Given the description of an element on the screen output the (x, y) to click on. 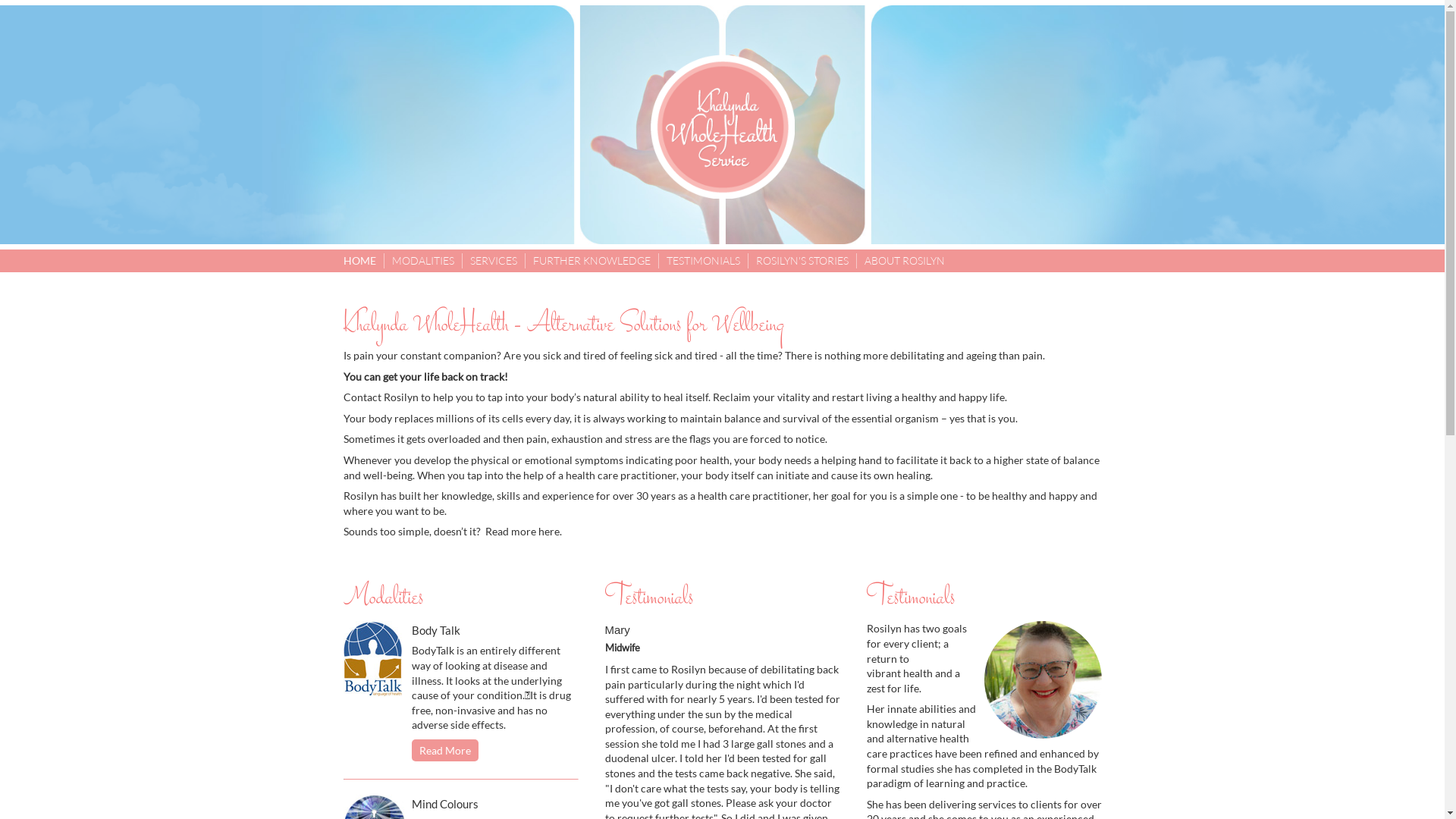
ROSILYN'S STORIES Element type: text (801, 260)
Read More Element type: text (444, 750)
Mary Element type: text (617, 630)
HOME Element type: text (358, 260)
TESTIMONIALS Element type: text (702, 260)
FURTHER KNOWLEDGE Element type: text (590, 260)
SERVICES Element type: text (493, 260)
MODALITIES Element type: text (422, 260)
ABOUT ROSILYN Element type: text (904, 260)
